Given the description of an element on the screen output the (x, y) to click on. 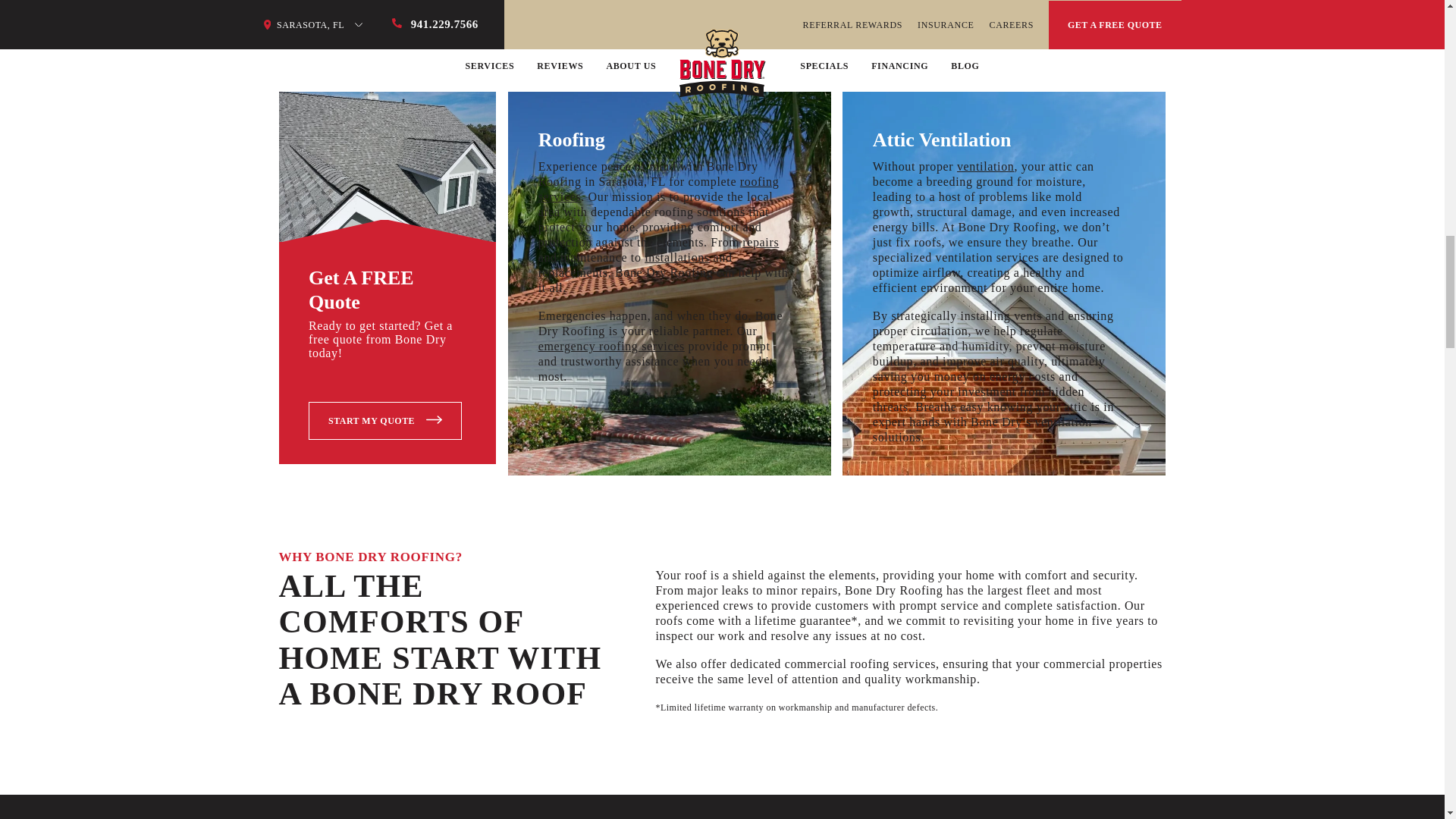
home.jpg (387, 171)
